Given the description of an element on the screen output the (x, y) to click on. 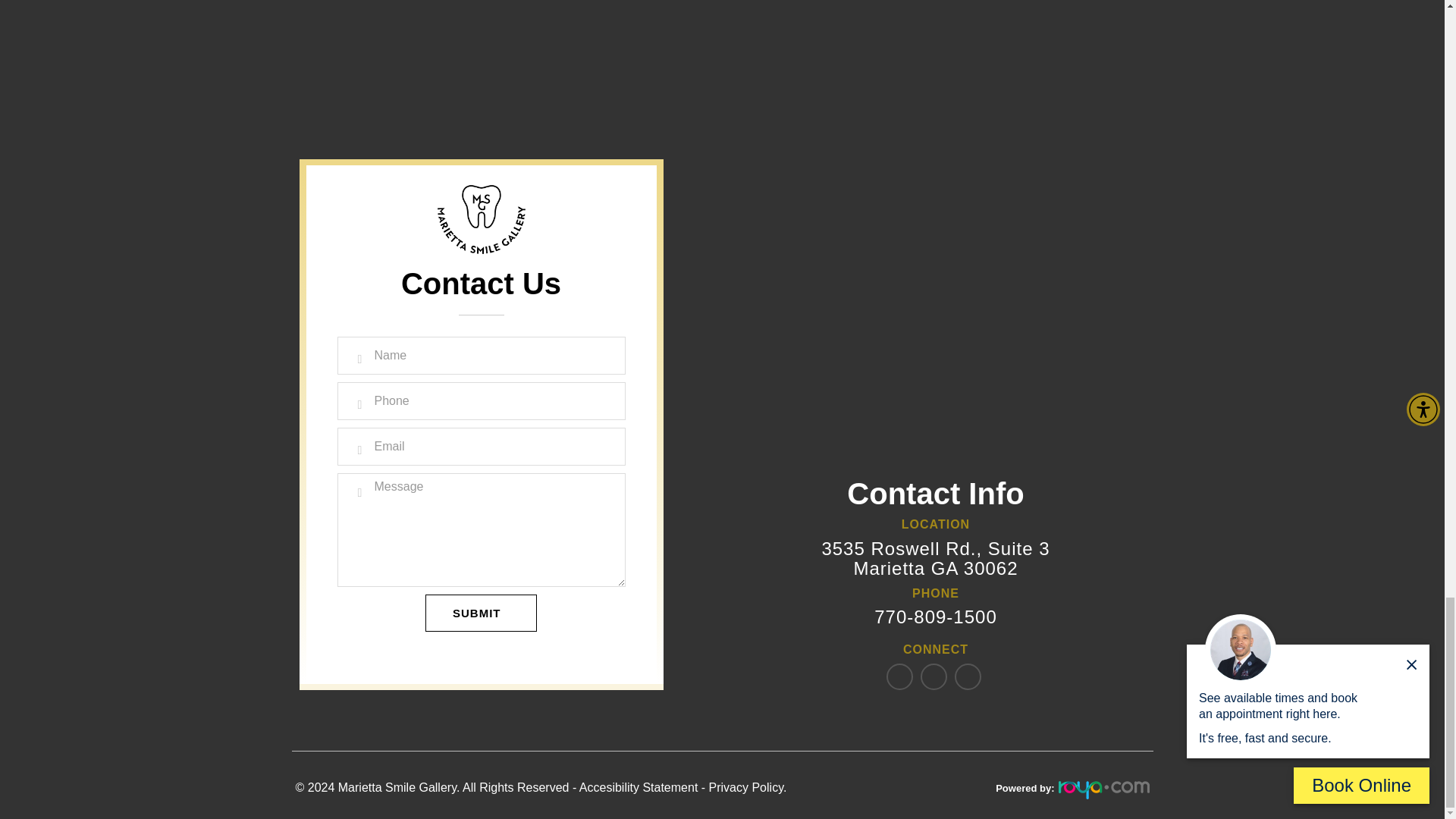
Roya (1104, 790)
